Given the description of an element on the screen output the (x, y) to click on. 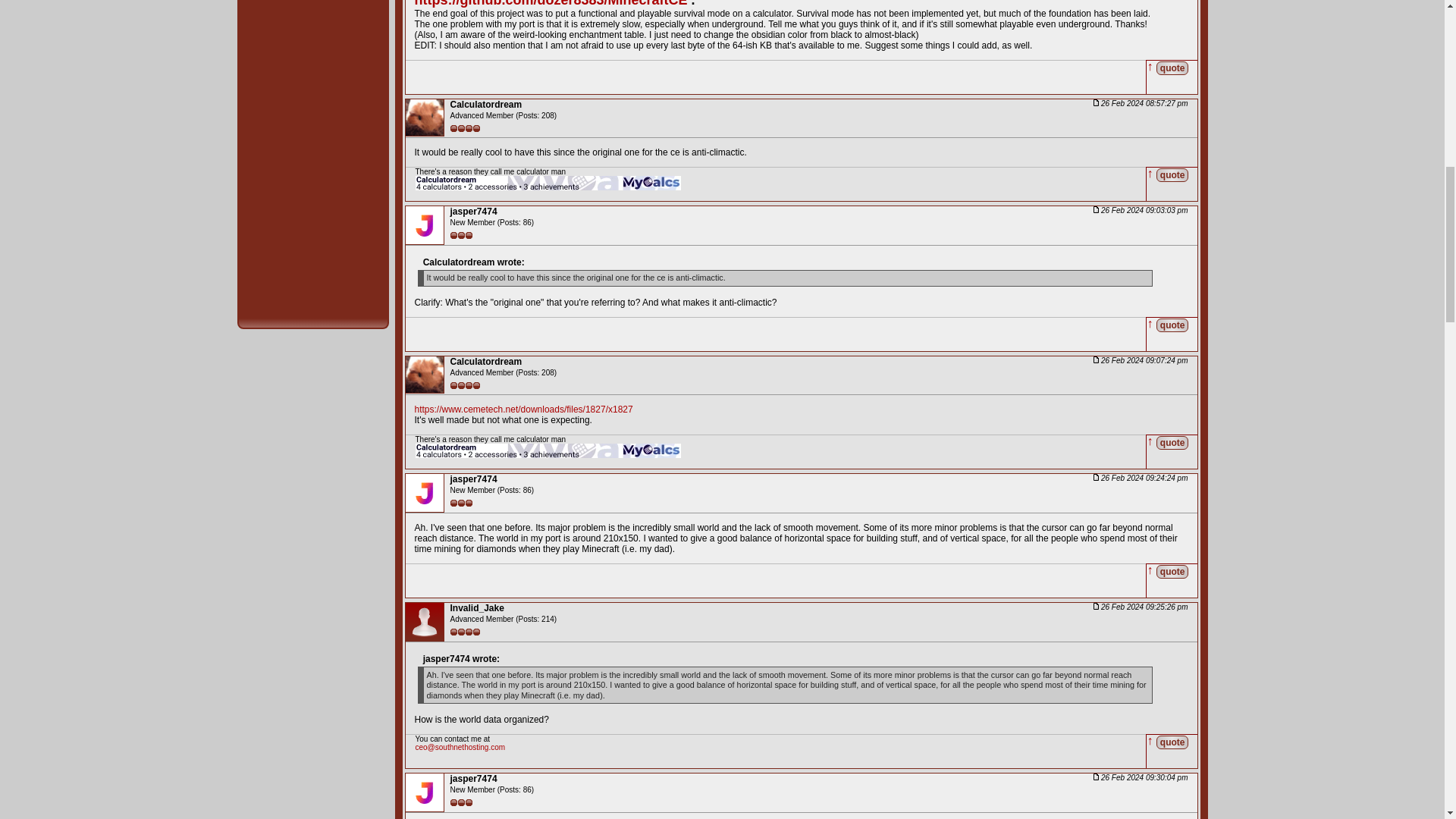
quote (1172, 67)
quote (1172, 324)
jasper7474 (473, 211)
Calculatordream (485, 104)
26 Feb 2024 08:57:27 pm (1140, 103)
quote (1172, 173)
26 Feb 2024 09:03:03 pm (1140, 210)
